Given the description of an element on the screen output the (x, y) to click on. 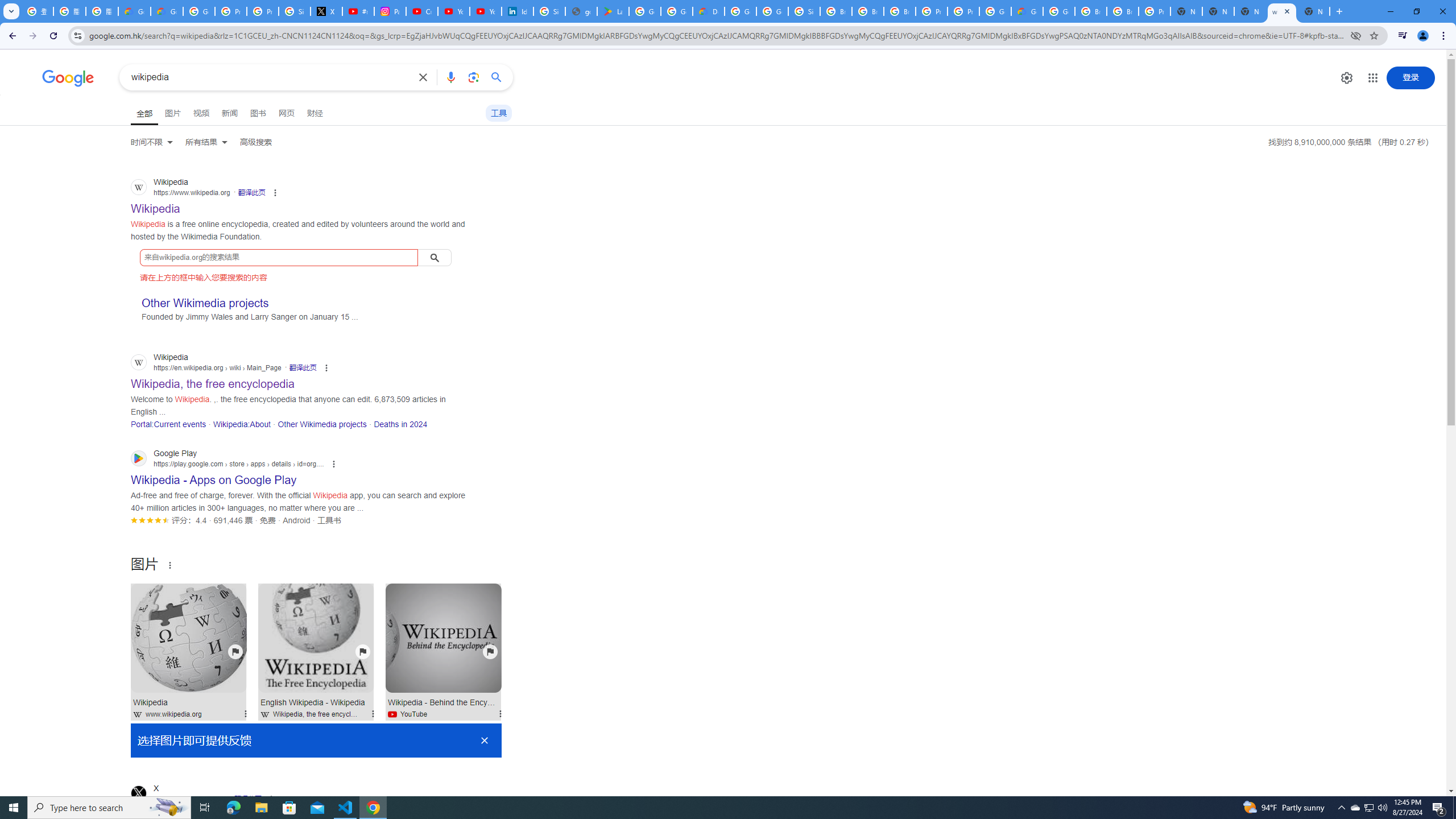
New Tab (1313, 11)
Google Cloud Platform (740, 11)
Browse Chrome as a guest - Computer - Google Chrome Help (836, 11)
